Given the description of an element on the screen output the (x, y) to click on. 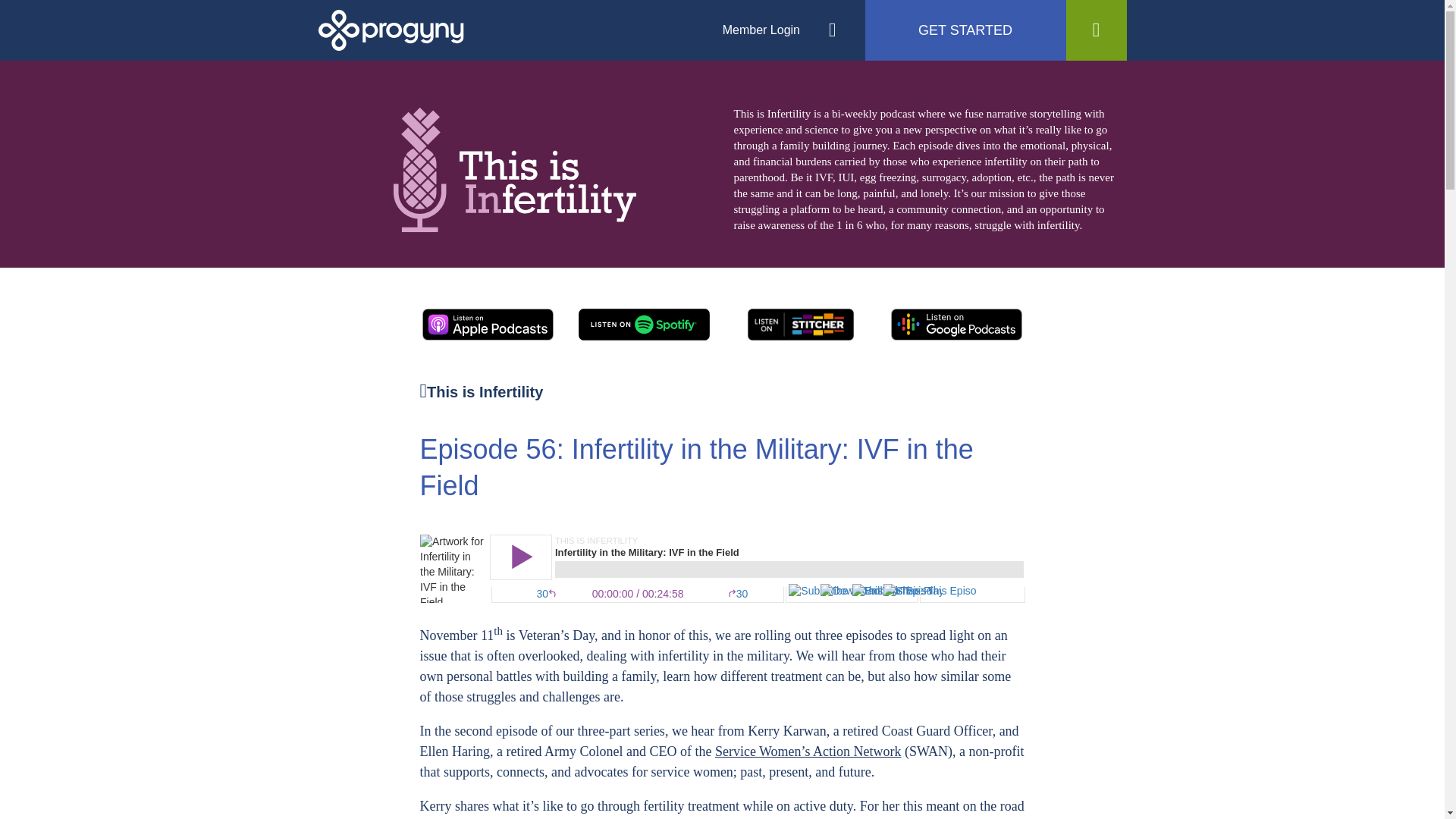
Member Login (760, 29)
GET STARTED (964, 30)
Progyny (391, 29)
